Given the description of an element on the screen output the (x, y) to click on. 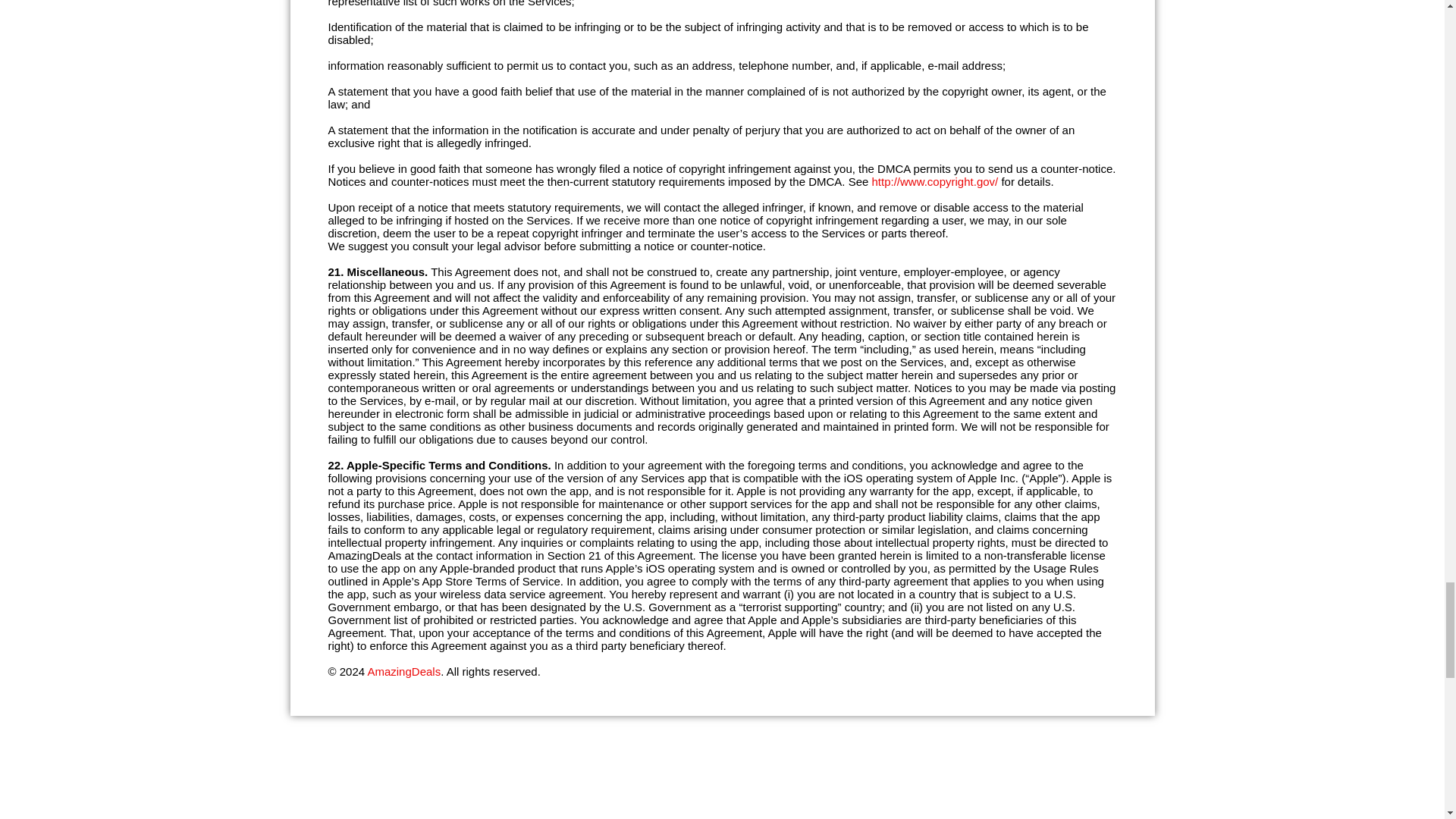
AmazingDeals (403, 671)
